Given the description of an element on the screen output the (x, y) to click on. 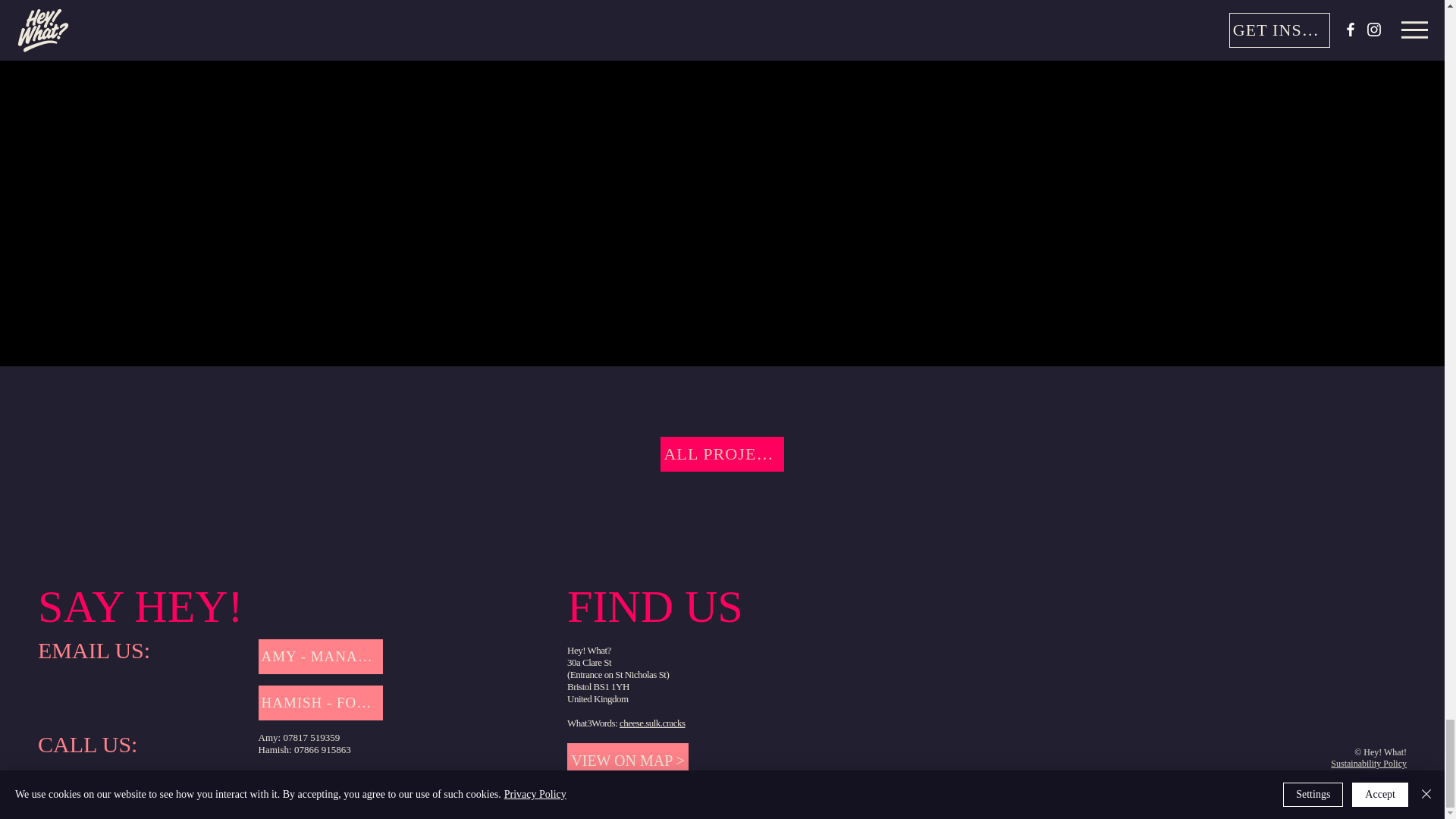
HAMISH - FOUNDER (321, 702)
AMY - MANAGING DIRECTOR (321, 656)
Privacy Policy (1380, 774)
cheese.sulk.cracks (652, 722)
Sustainability Policy (1368, 763)
ALL PROJECTS (722, 453)
